Given the description of an element on the screen output the (x, y) to click on. 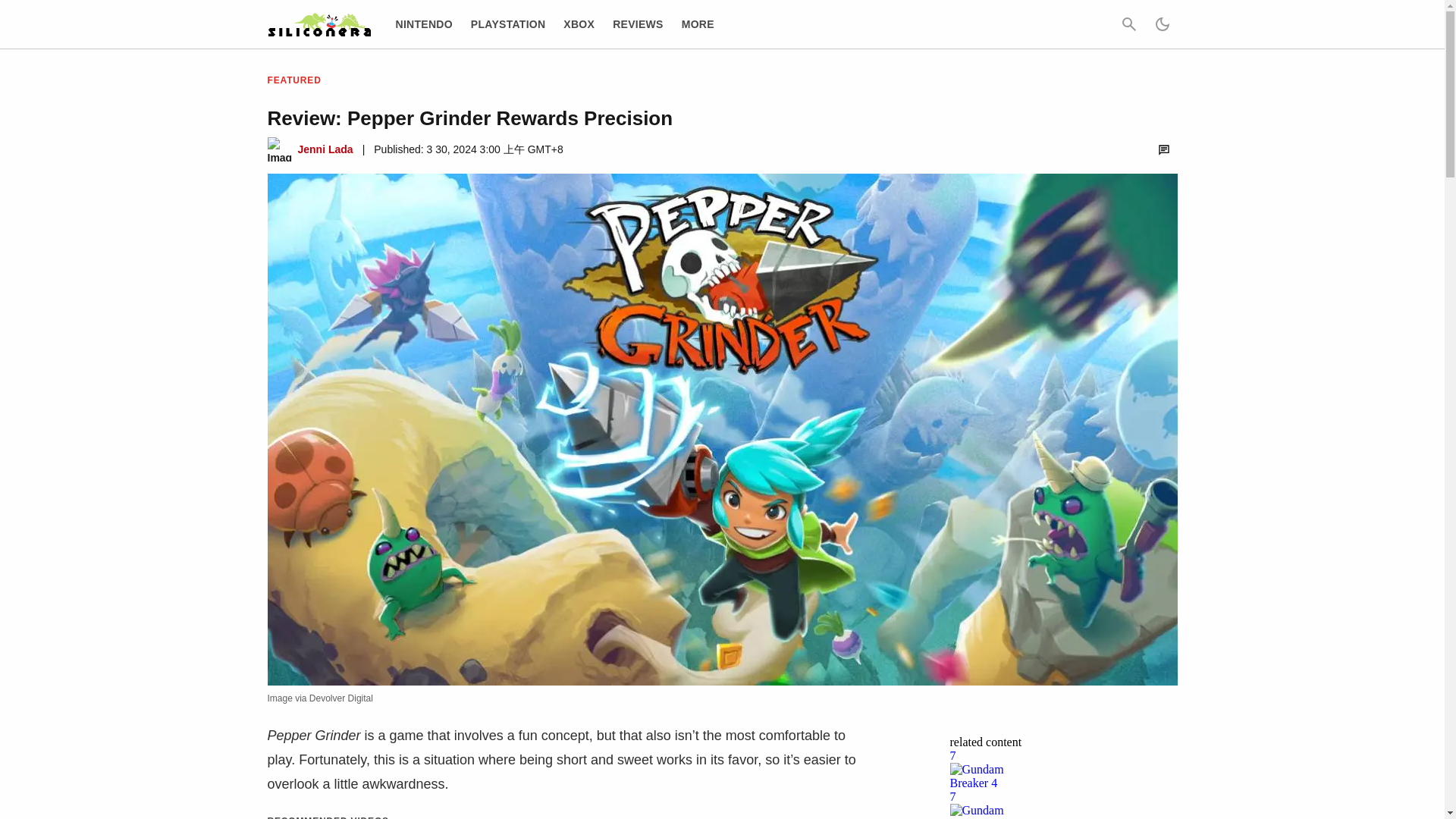
PLAYSTATION (508, 24)
REVIEWS (637, 24)
Dark Mode (1161, 24)
XBOX (578, 24)
NINTENDO (424, 24)
Search (1127, 24)
